Given the description of an element on the screen output the (x, y) to click on. 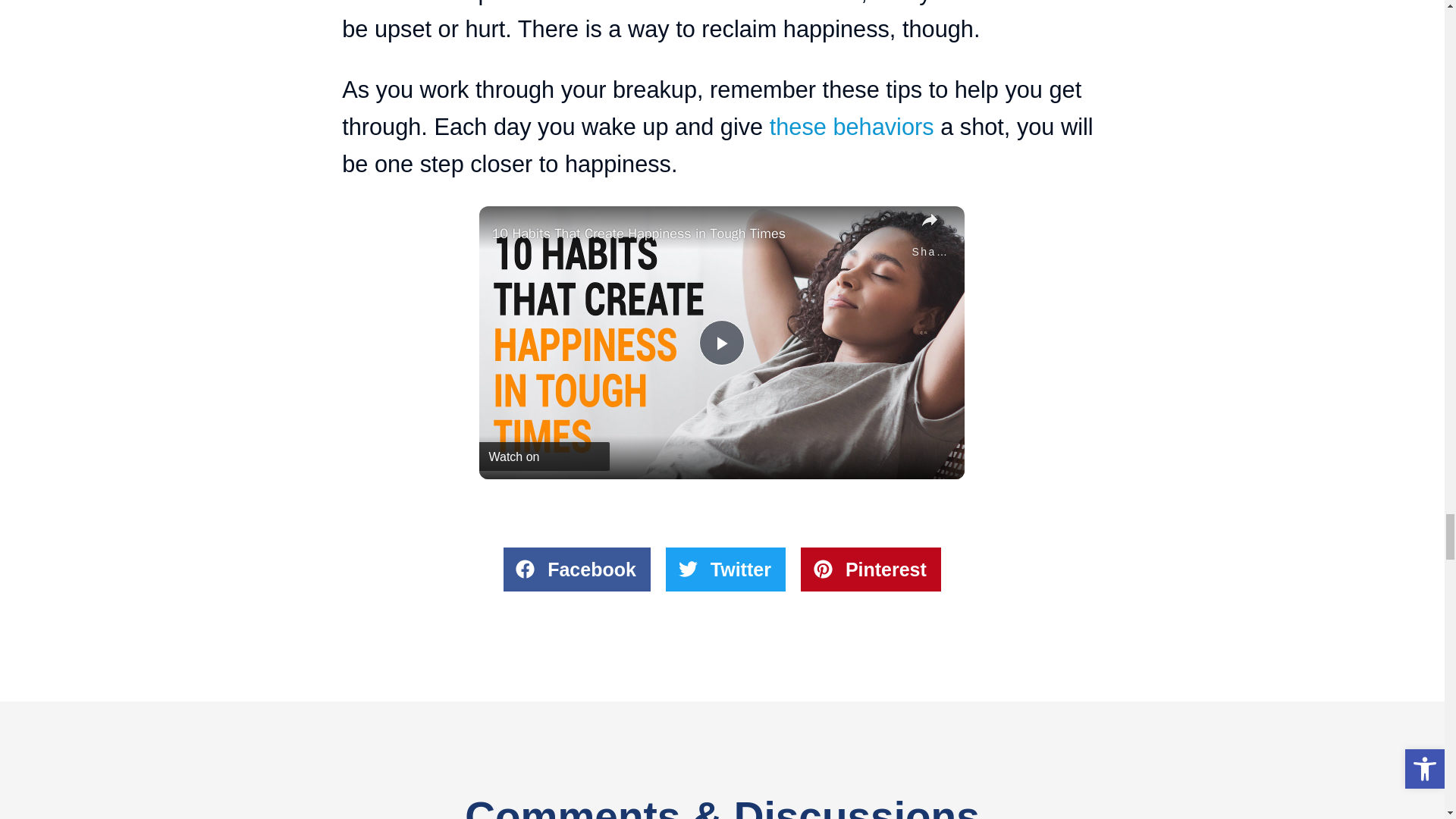
Play Video (721, 342)
